Given the description of an element on the screen output the (x, y) to click on. 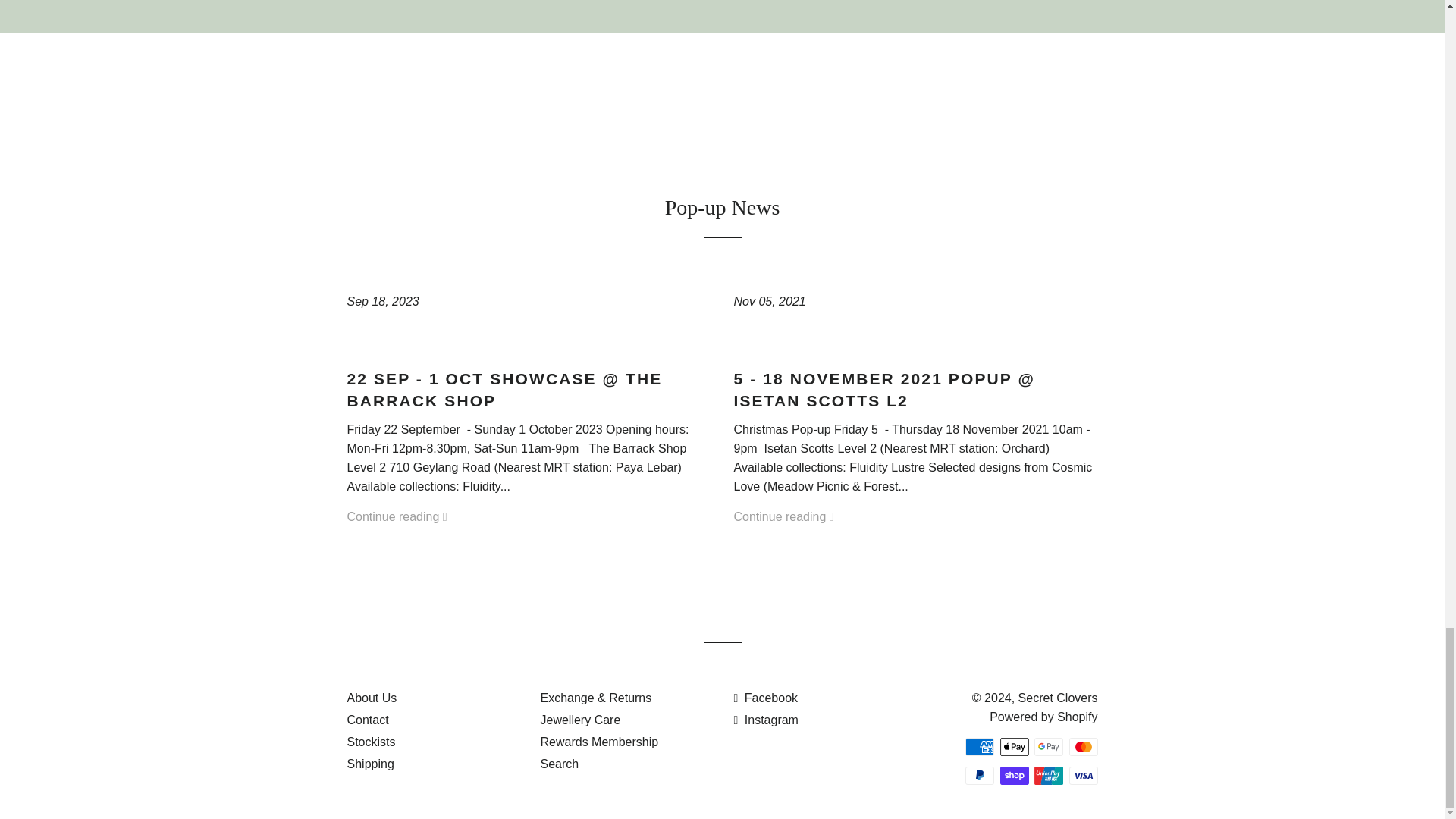
Apple Pay (1012, 746)
PayPal (979, 775)
Secret Clovers on Instagram (765, 719)
Visa (1082, 775)
Secret Clovers on Facebook (765, 697)
Union Pay (1047, 775)
American Express (979, 746)
Google Pay (1047, 746)
Mastercard (1082, 746)
Shop Pay (1012, 775)
